Given the description of an element on the screen output the (x, y) to click on. 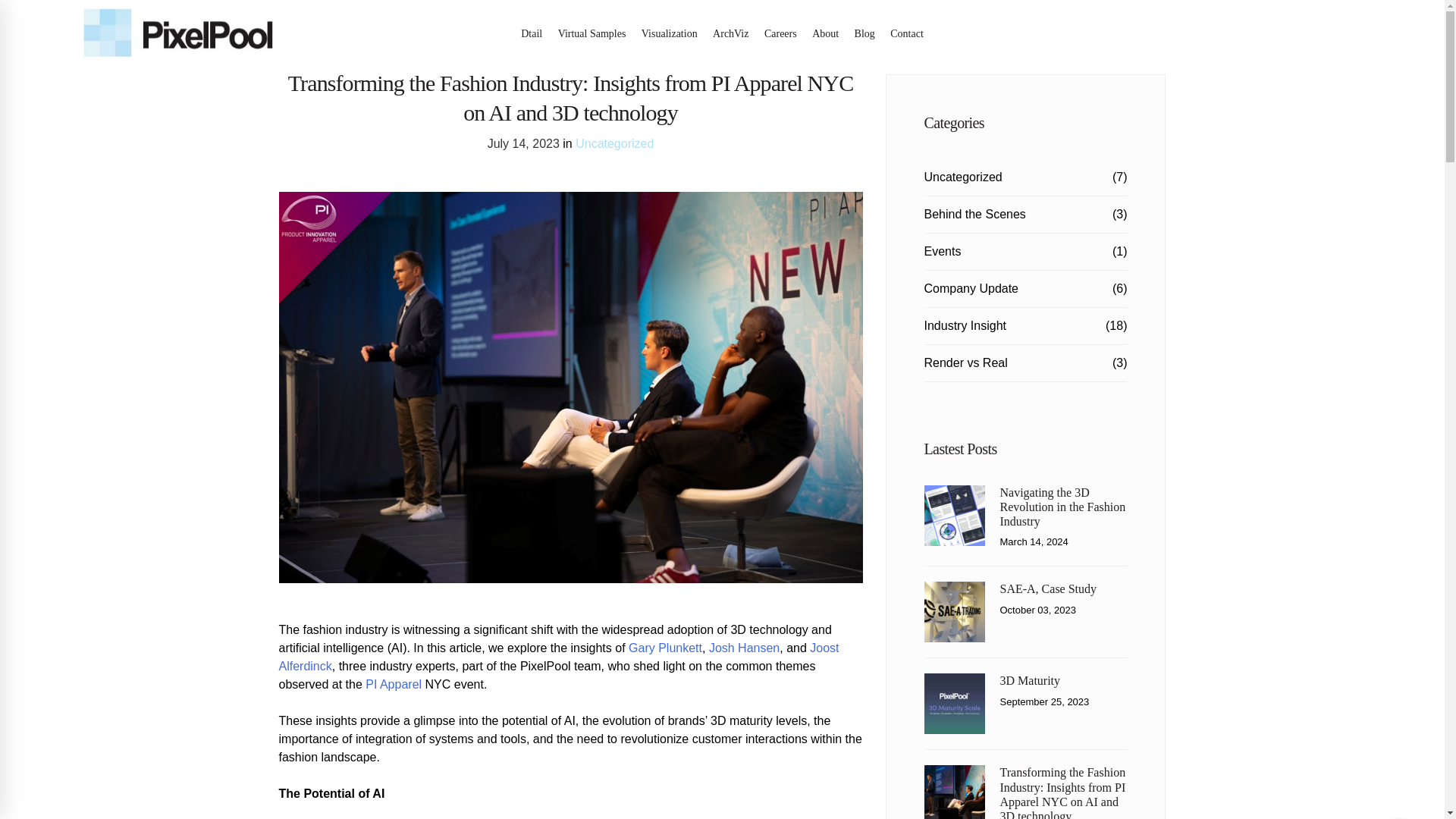
3D Maturity (1028, 680)
Navigating the 3D Revolution in the Fashion Industry (1061, 506)
Uncategorized (614, 143)
3D Maturity (1028, 680)
About (825, 34)
SAE-A, Case Study (953, 590)
Navigating the 3D Revolution in the Fashion Industry (953, 493)
Joost Alferdinck (559, 656)
PI Apparel (393, 684)
Careers (780, 34)
Dtail (531, 34)
Gary Plunkett (664, 647)
Josh Hansen (743, 647)
Virtual Samples (592, 34)
